Given the description of an element on the screen output the (x, y) to click on. 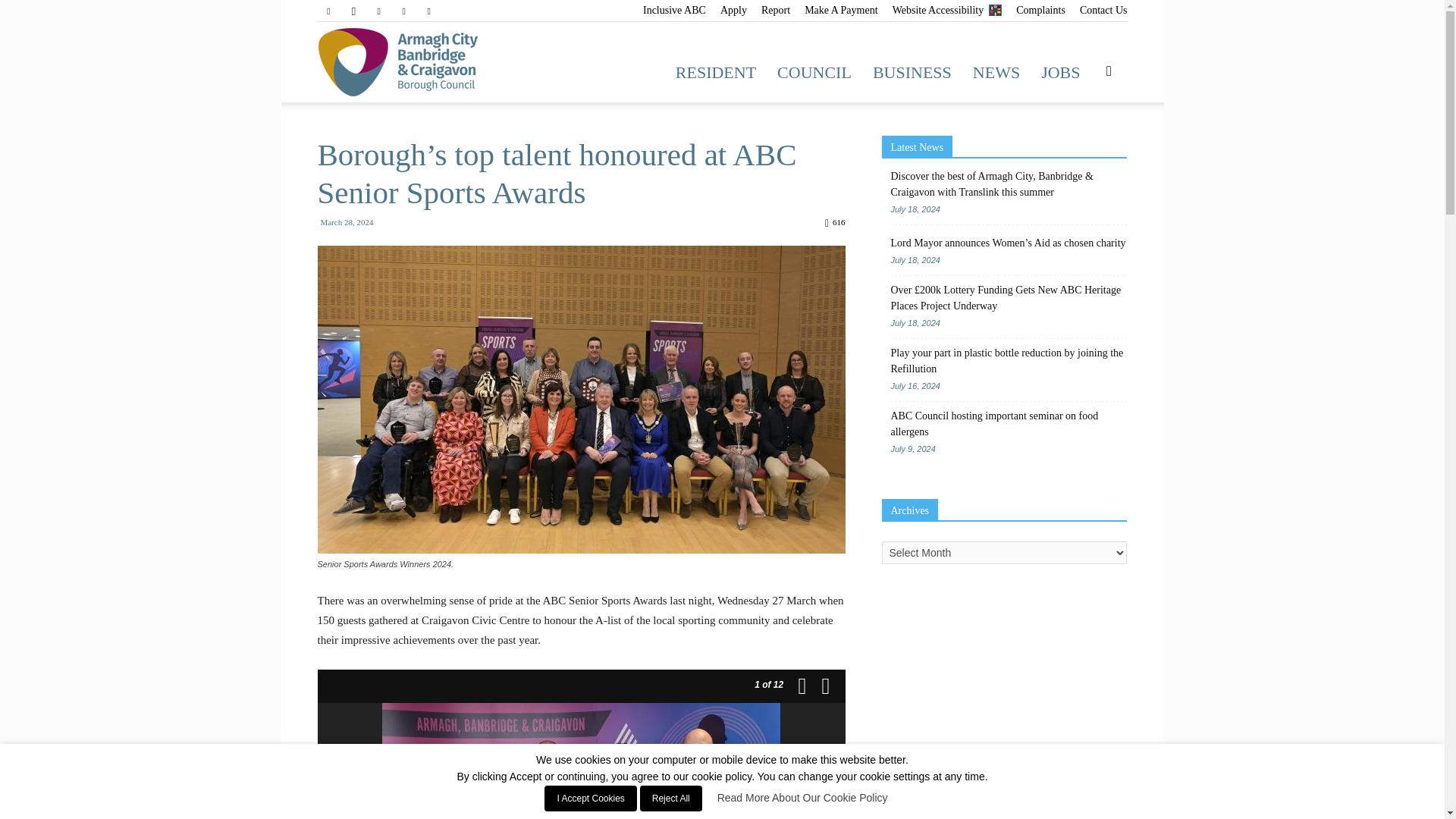
Inclusive ABC (674, 9)
BUSINESS (911, 72)
Armagh City, Banbridge and Craigavon Borough Council (419, 61)
Youtube (429, 10)
COUNCIL (814, 72)
Linkedin (379, 10)
Apply (733, 9)
Twitter (403, 10)
RESIDENT (716, 72)
NEWS (996, 72)
Instagram (353, 10)
Make A Payment (841, 9)
JOBS (1060, 72)
Website Accessibility (947, 9)
Search (1085, 144)
